Given the description of an element on the screen output the (x, y) to click on. 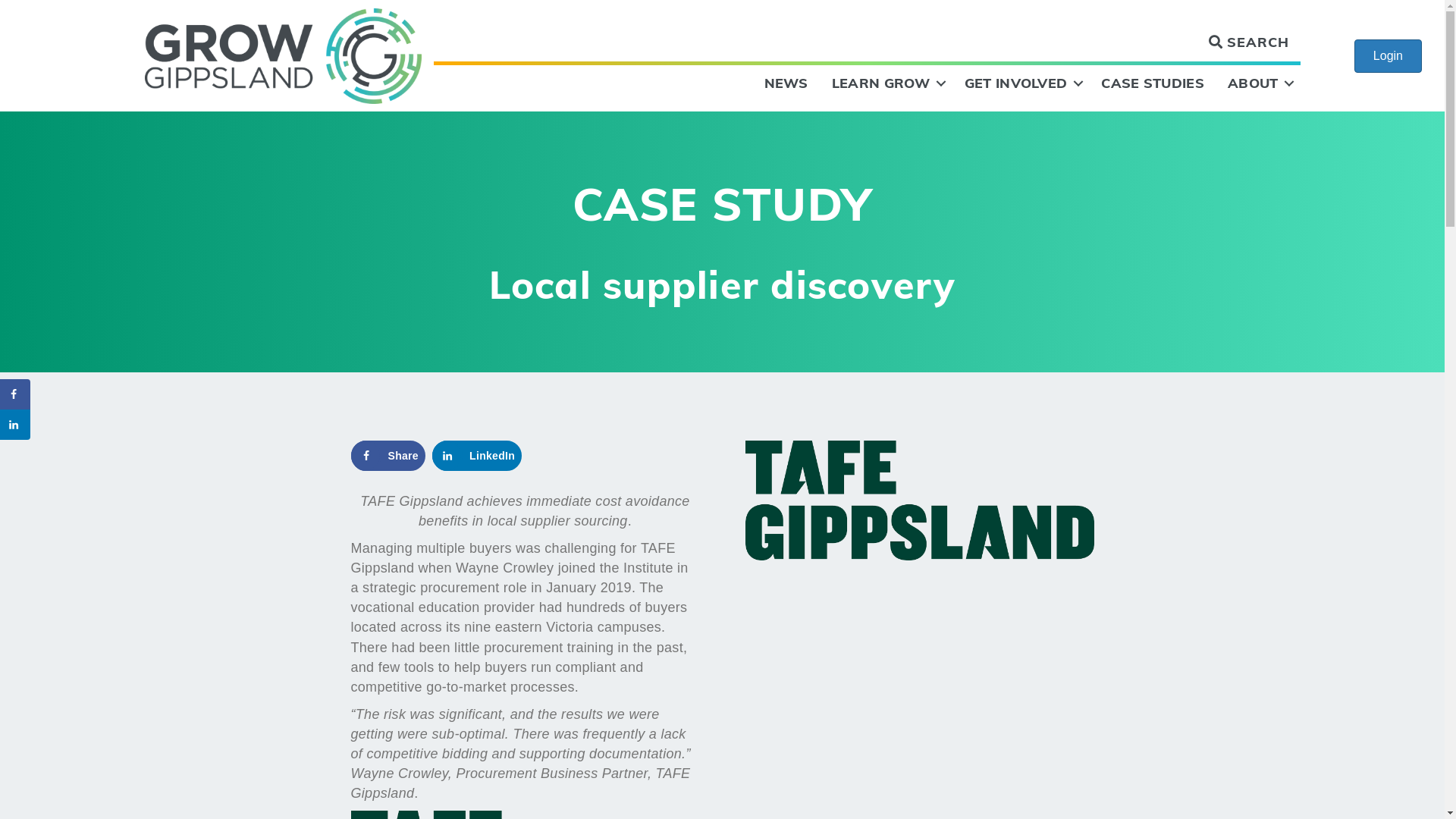
ABOUT Element type: text (1258, 83)
Share Element type: text (387, 455)
Share on Facebook Element type: hover (15, 394)
Login Element type: text (1387, 55)
Share on LinkedIn Element type: hover (15, 424)
GET INVOLVED Element type: text (1021, 83)
LinkedIn Element type: text (476, 455)
NEWS Element type: text (786, 83)
GROW-Gippsland-Logo Element type: hover (282, 55)
LEARN GROW Element type: text (886, 83)
TAFE-Gippsland-Logo Element type: hover (918, 500)
CASE STUDIES Element type: text (1152, 83)
